Given the description of an element on the screen output the (x, y) to click on. 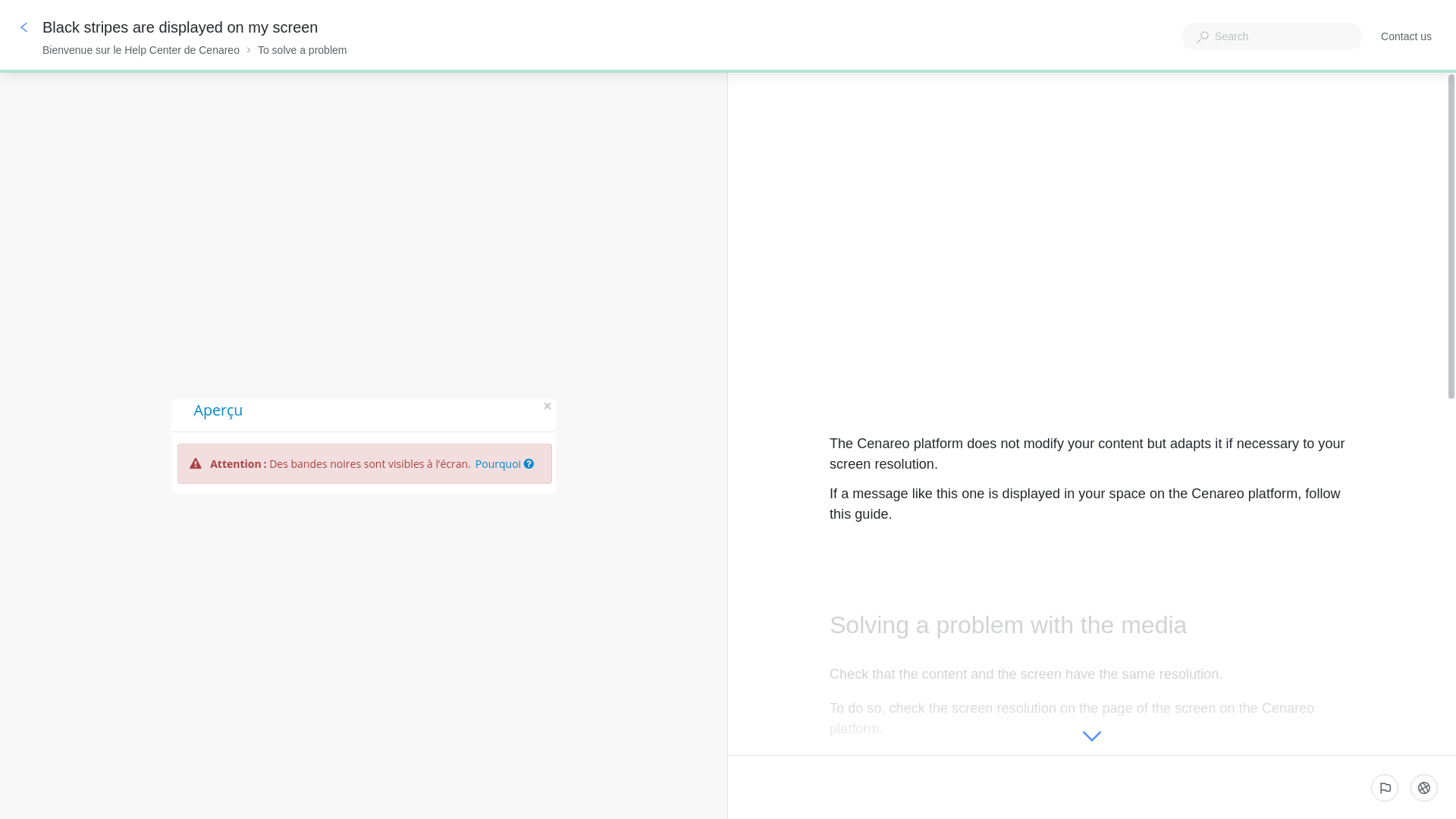
submit (1424, 786)
Black stripes are displayed on my screen (181, 27)
submit (1384, 786)
To solve a problem (302, 50)
Bienvenue sur le Help Center de Cenareo (141, 50)
Contact us (1405, 36)
